Given the description of an element on the screen output the (x, y) to click on. 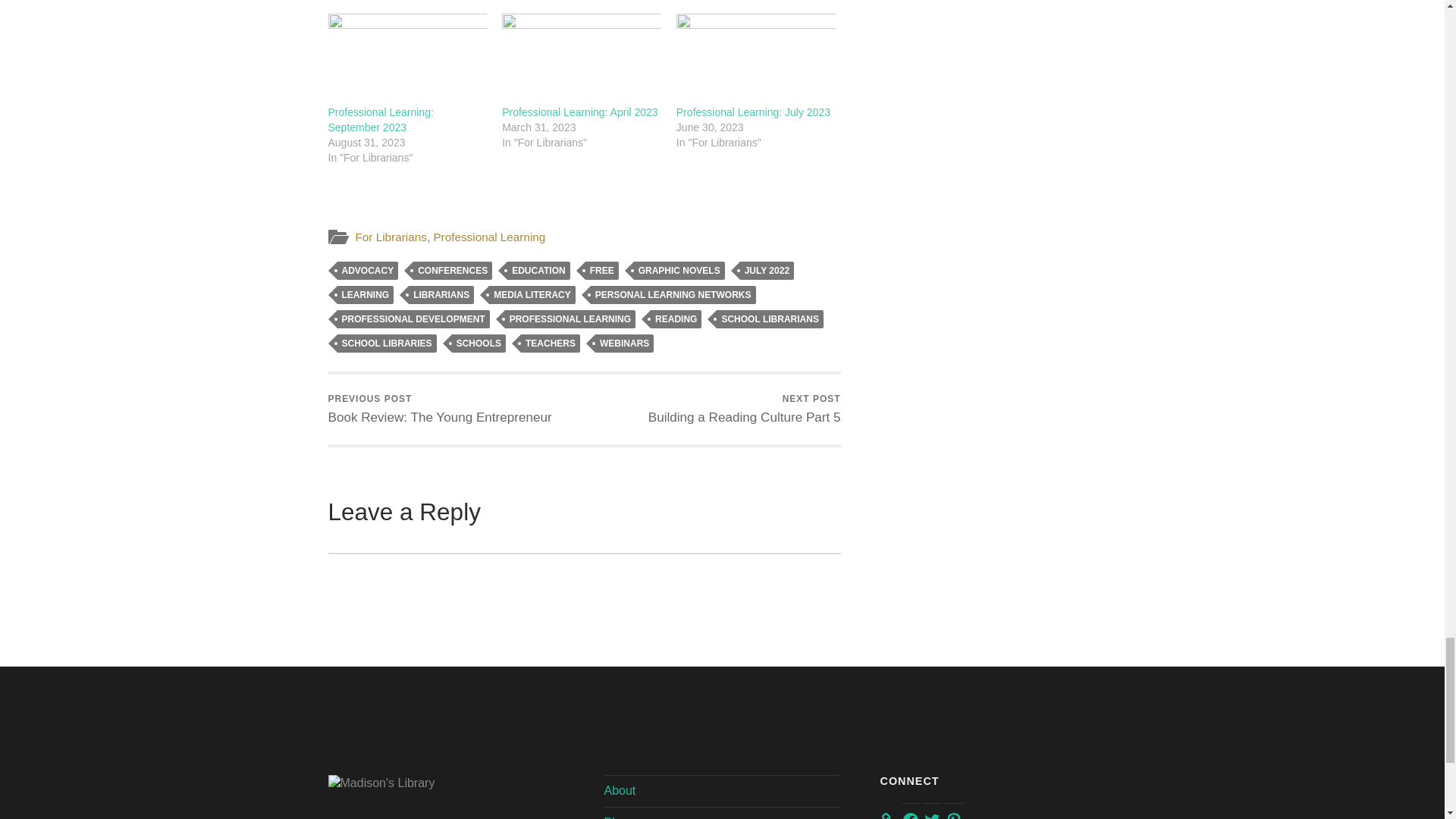
Professional Learning: July 2023 (756, 58)
Professional Learning: April 2023 (581, 58)
Professional Learning: July 2023 (753, 111)
Professional Learning: September 2023 (379, 119)
Professional Learning: April 2023 (580, 111)
Professional Learning: September 2023 (406, 58)
